Given the description of an element on the screen output the (x, y) to click on. 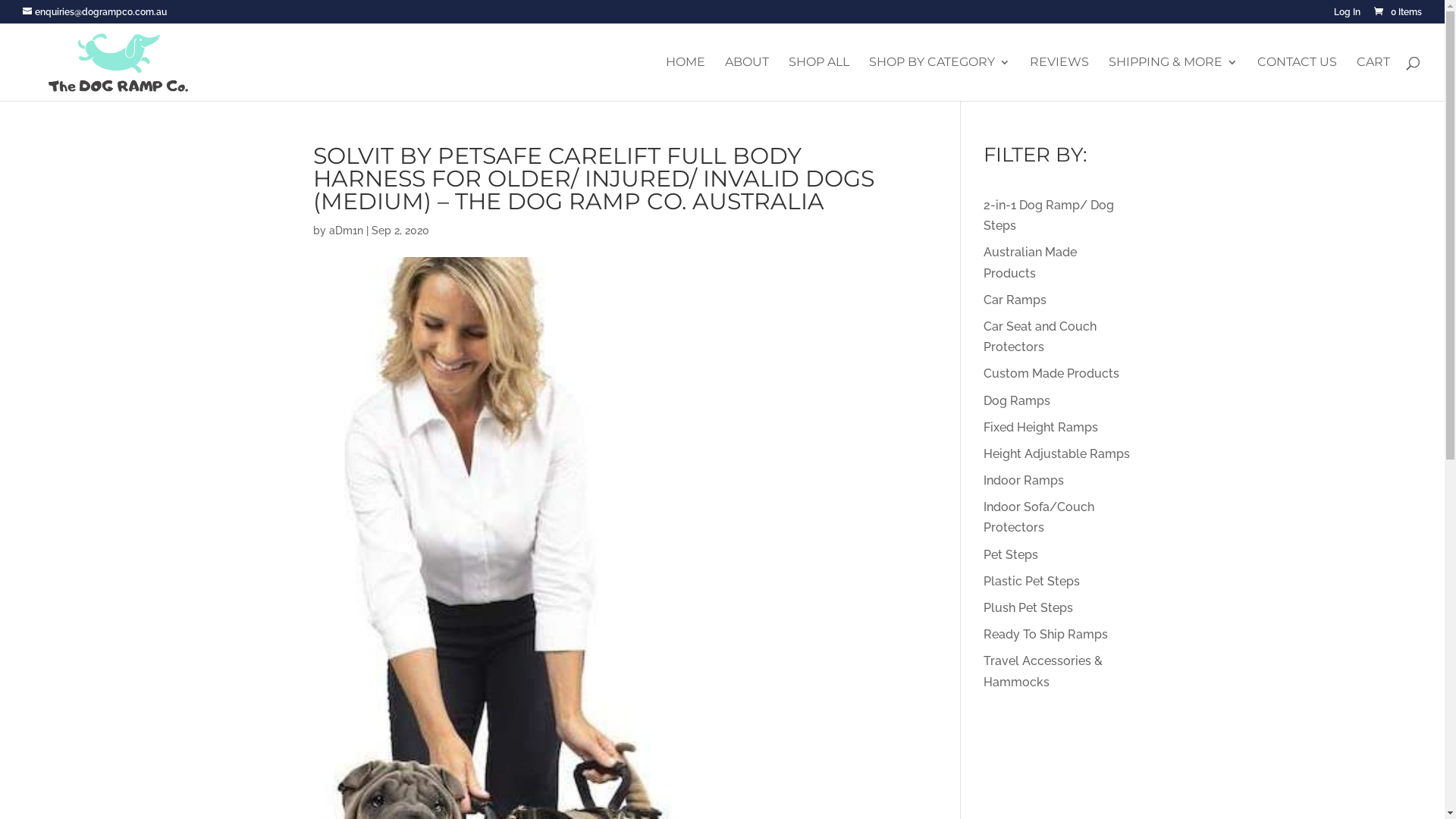
0 Items Element type: text (1396, 11)
Australian Made Products Element type: text (1029, 261)
enquiries@dogrampco.com.au Element type: text (94, 11)
Plastic Pet Steps Element type: text (1031, 581)
Dog Ramps Element type: text (1016, 399)
SHOP ALL Element type: text (818, 78)
Indoor Sofa/Couch Protectors Element type: text (1038, 516)
Ready To Ship Ramps Element type: text (1045, 634)
Fixed Height Ramps Element type: text (1040, 427)
SHOP BY CATEGORY Element type: text (939, 78)
CONTACT US Element type: text (1296, 78)
Plush Pet Steps Element type: text (1028, 607)
HOME Element type: text (685, 78)
Travel Accessories & Hammocks Element type: text (1042, 670)
CART Element type: text (1373, 78)
aDm1n Element type: text (346, 230)
Car Ramps Element type: text (1014, 299)
Custom Made Products Element type: text (1051, 373)
Log In Element type: text (1346, 15)
SHIPPING & MORE Element type: text (1172, 78)
2-in-1 Dog Ramp/ Dog Steps Element type: text (1048, 214)
Height Adjustable Ramps Element type: text (1056, 453)
ABOUT Element type: text (746, 78)
Car Seat and Couch Protectors Element type: text (1039, 336)
REVIEWS Element type: text (1058, 78)
Pet Steps Element type: text (1010, 554)
Indoor Ramps Element type: text (1023, 480)
